Given the description of an element on the screen output the (x, y) to click on. 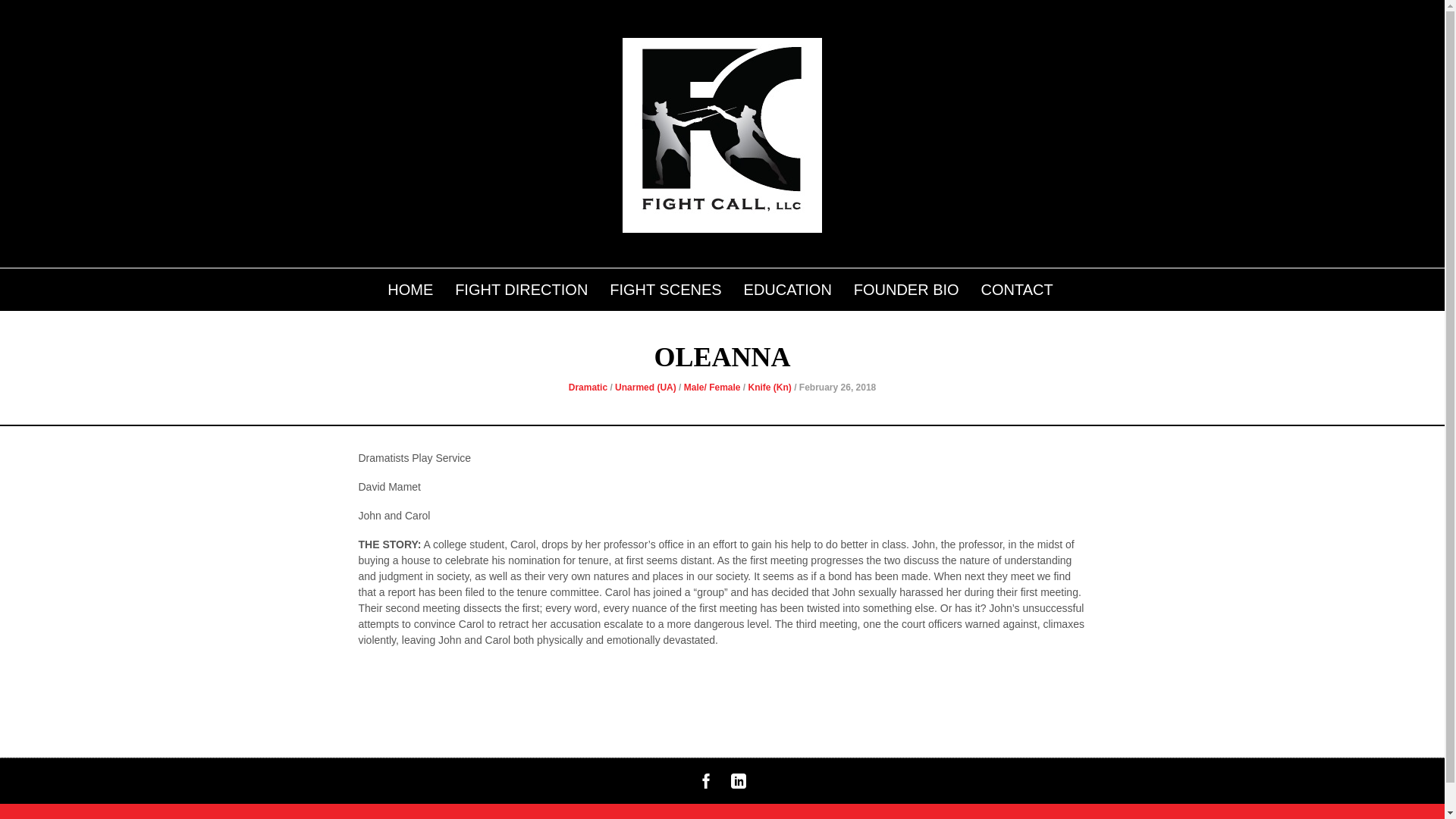
EDUCATION (787, 286)
HOME (409, 286)
Dramatic (588, 387)
CONTACT (1016, 286)
FOUNDER BIO (907, 286)
Linkedin (737, 784)
FIGHT DIRECTION (521, 286)
FIGHT SCENES (665, 286)
